Given the description of an element on the screen output the (x, y) to click on. 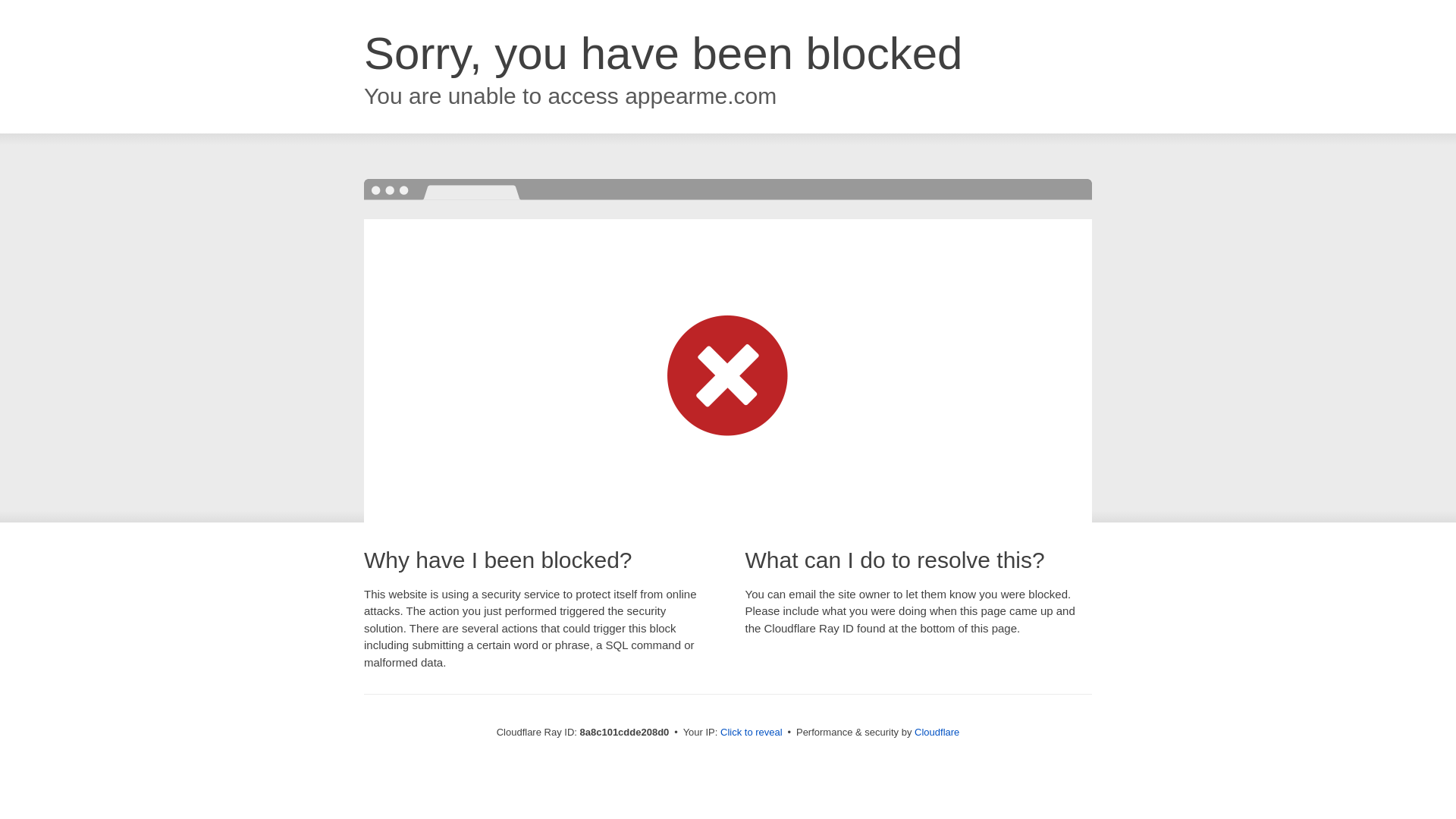
Click to reveal (751, 732)
Cloudflare (936, 731)
